Given the description of an element on the screen output the (x, y) to click on. 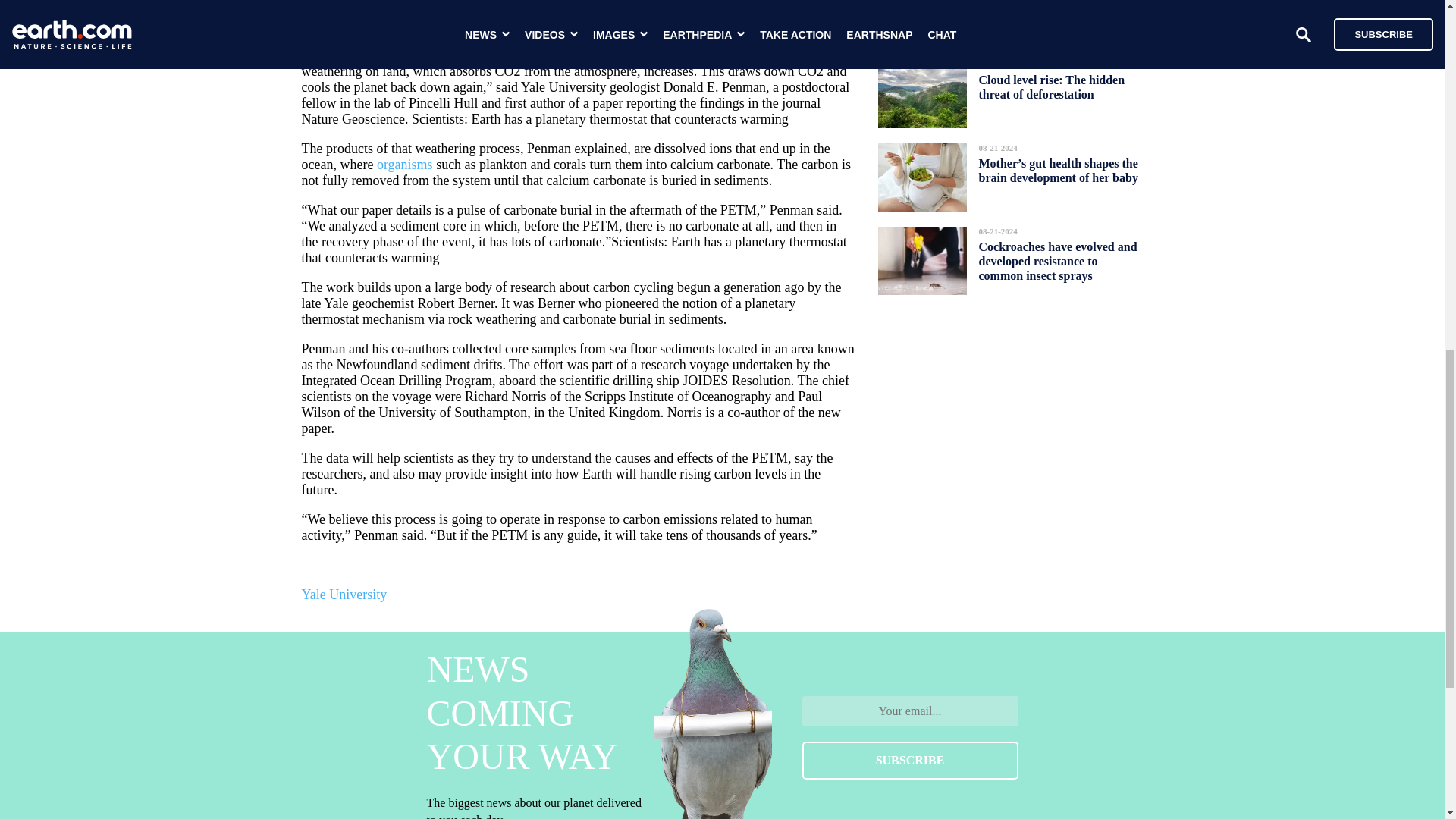
Video gaming can boost well-being and life satisfaction (1053, 12)
SUBSCRIBE (909, 760)
organisms (404, 164)
Yale University (344, 594)
Cloud level rise: The hidden threat of deforestation (1051, 87)
